Given the description of an element on the screen output the (x, y) to click on. 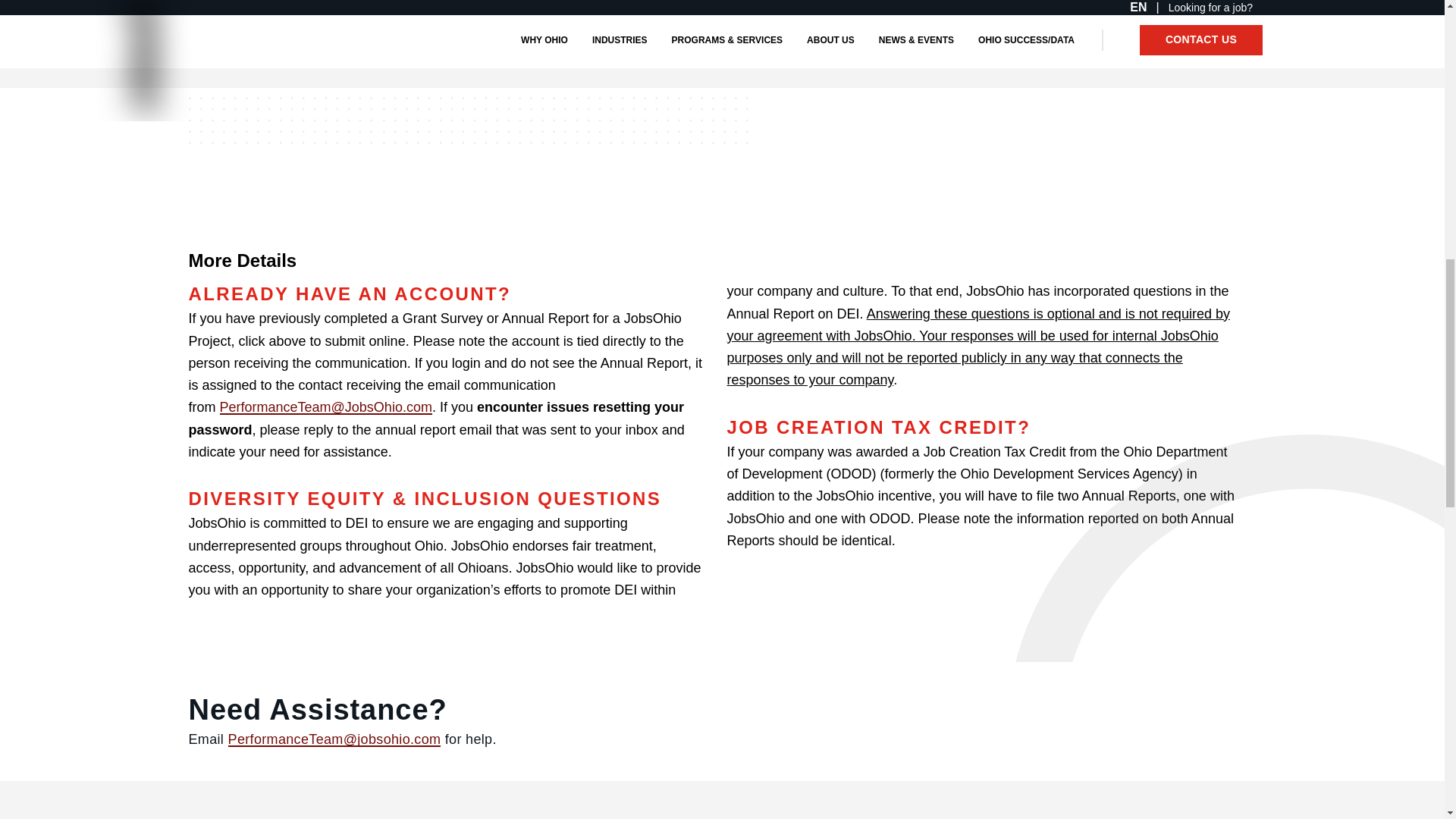
SITE DEVELOPMENT ANNUAL REPORT RESOURCES (547, 48)
REIMBURSEMENT REQUIREMENTS (824, 48)
ANNUAL REPORT WORKSHEET (279, 48)
Need Assistance? (527, 710)
